Given the description of an element on the screen output the (x, y) to click on. 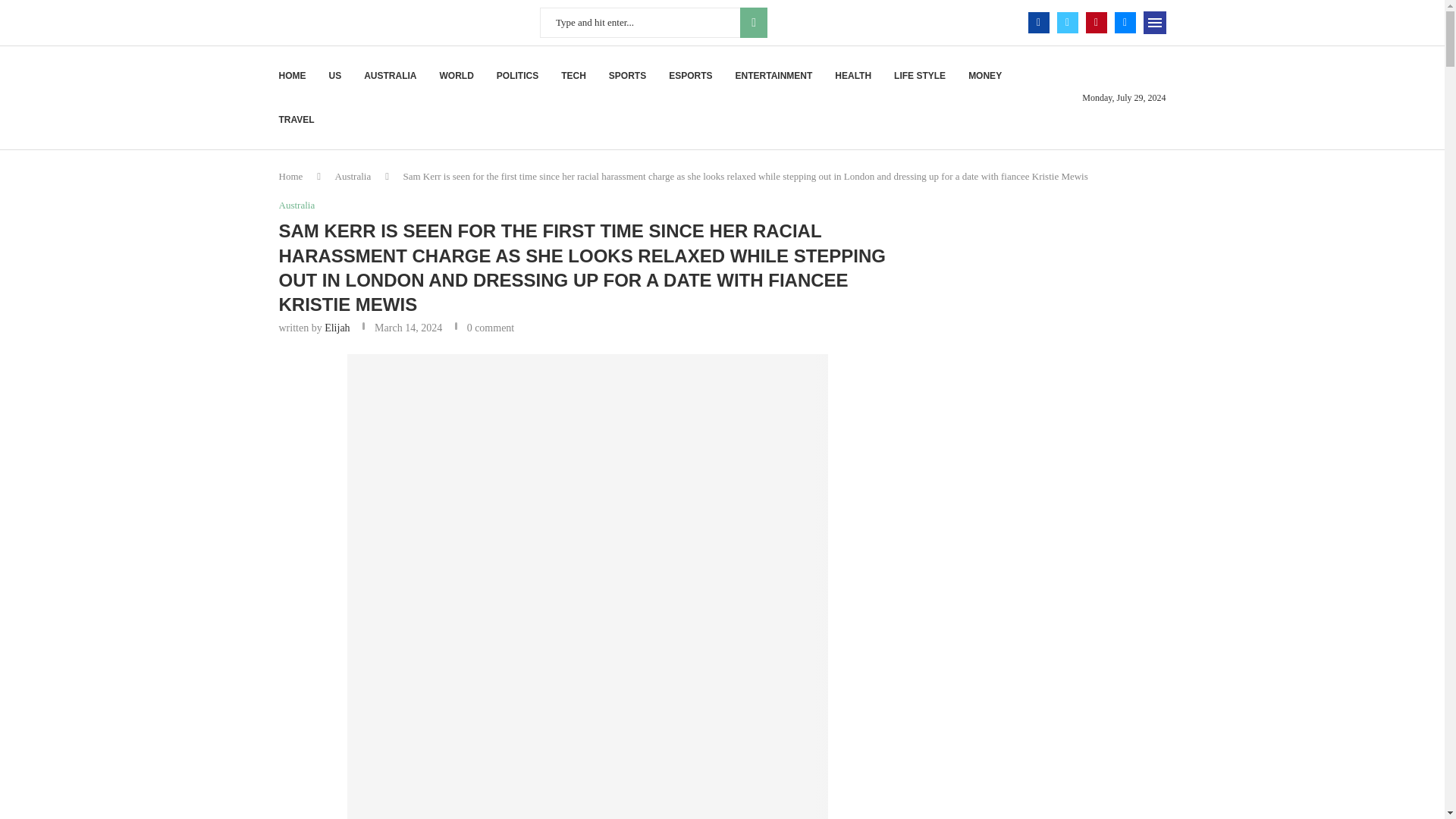
ENTERTAINMENT (773, 75)
SEARCH (753, 22)
ESPORTS (689, 75)
AUSTRALIA (390, 75)
POLITICS (517, 75)
LIFE STYLE (918, 75)
